Given the description of an element on the screen output the (x, y) to click on. 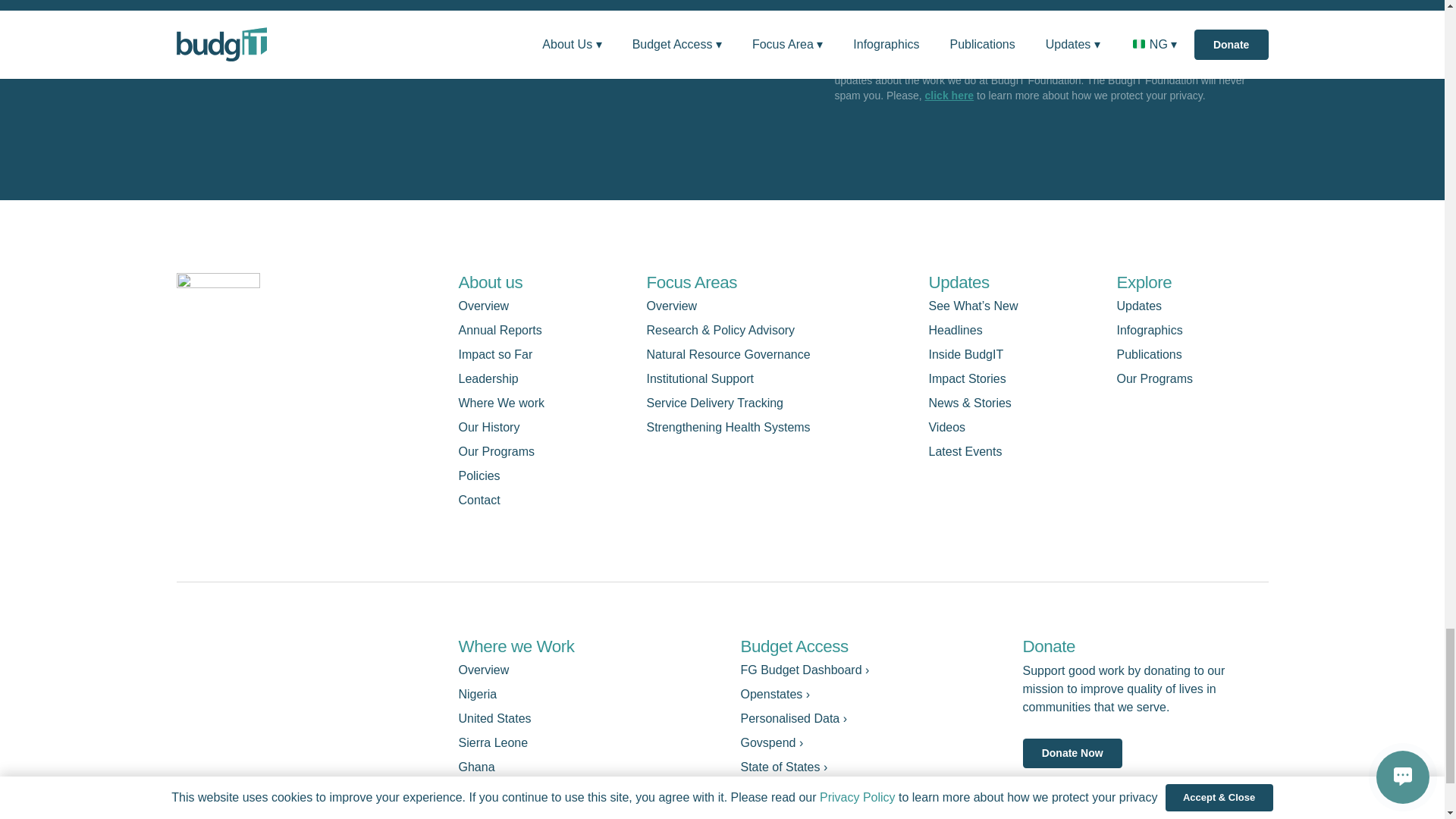
Subscribe (885, 19)
